Given the description of an element on the screen output the (x, y) to click on. 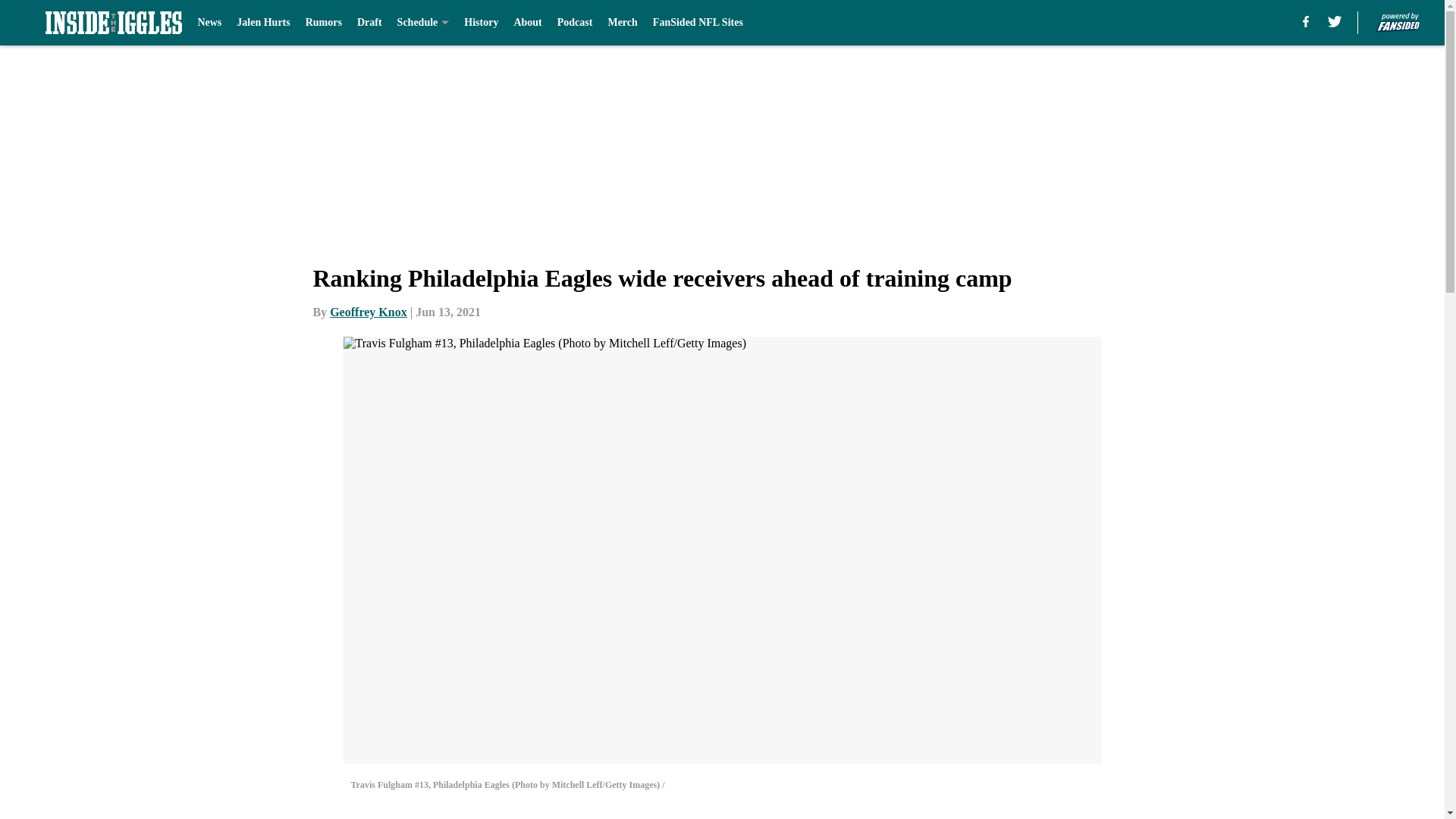
About (527, 22)
Podcast (574, 22)
Draft (368, 22)
Jalen Hurts (262, 22)
News (208, 22)
History (480, 22)
Merch (622, 22)
FanSided NFL Sites (697, 22)
Rumors (323, 22)
Geoffrey Knox (368, 311)
